Given the description of an element on the screen output the (x, y) to click on. 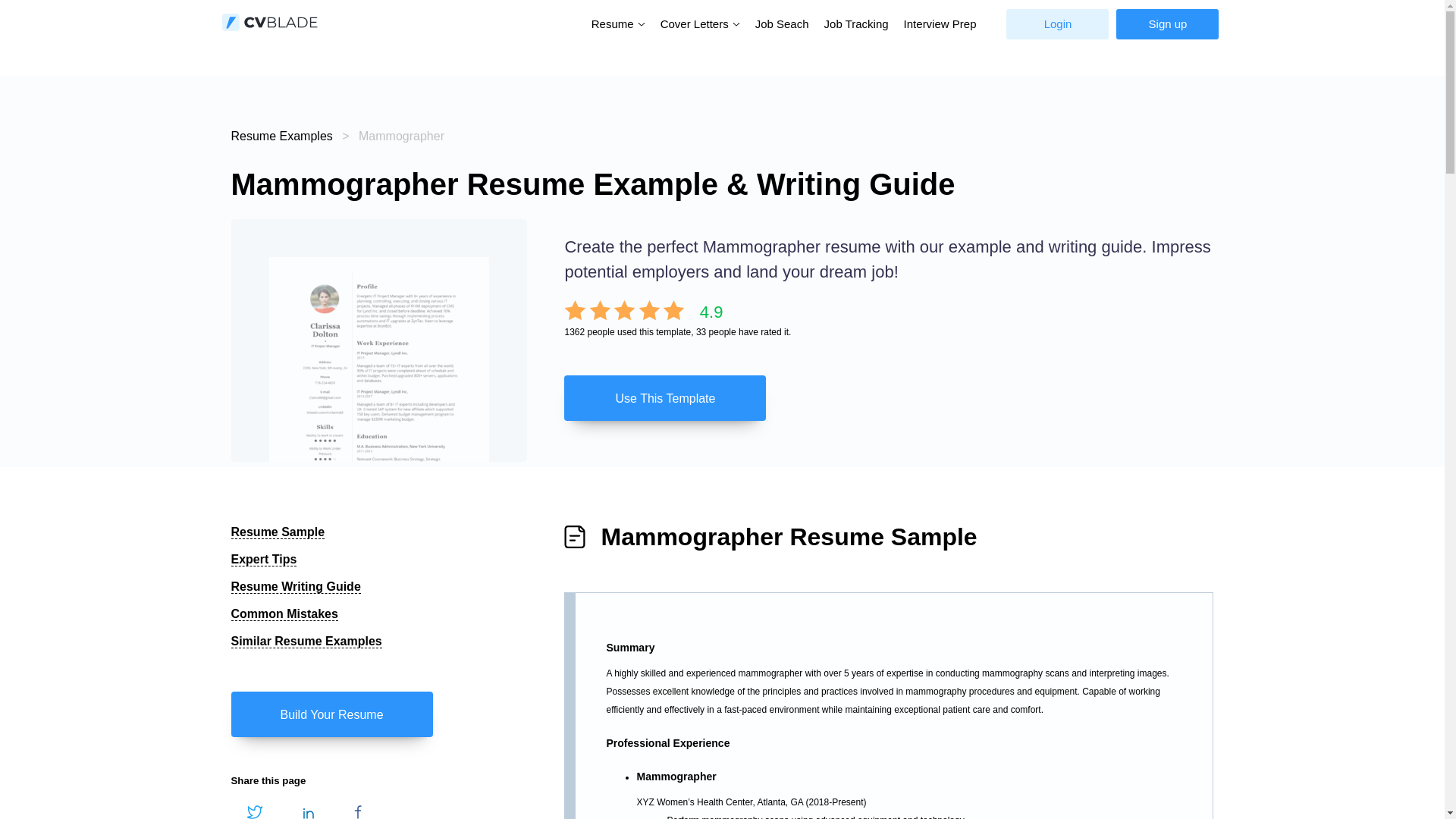
Sign up (1167, 24)
Resume Sample (277, 531)
Use This Template (664, 397)
Interview Prep (940, 23)
Job Seach (782, 23)
Login (1057, 24)
Use This Template (888, 397)
Cover Letters (695, 23)
Job Tracking (856, 23)
Resume (614, 23)
Resume Examples (280, 135)
